Given the description of an element on the screen output the (x, y) to click on. 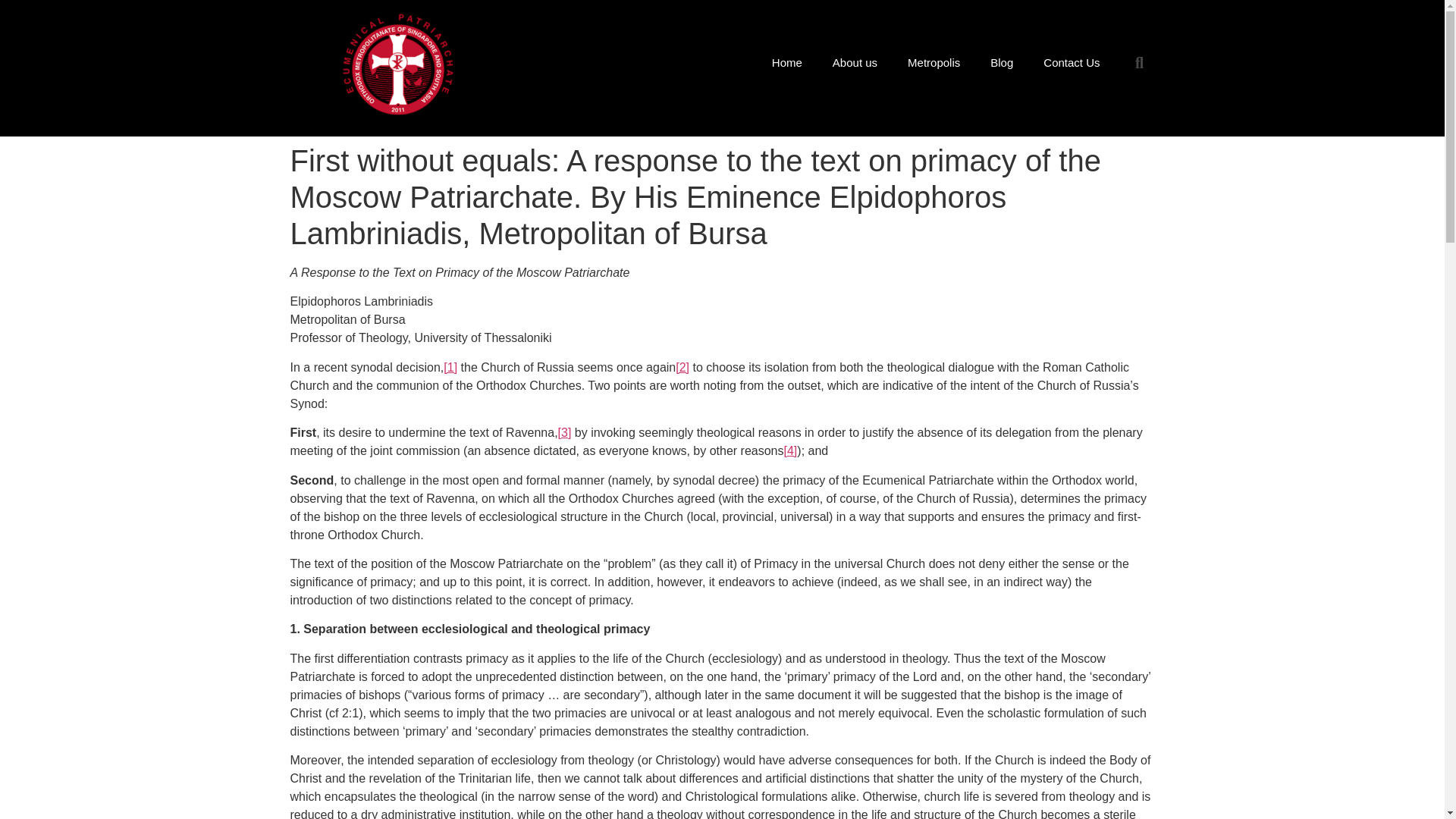
Metropolis (933, 61)
Contact Us (1071, 61)
About us (854, 61)
